Given the description of an element on the screen output the (x, y) to click on. 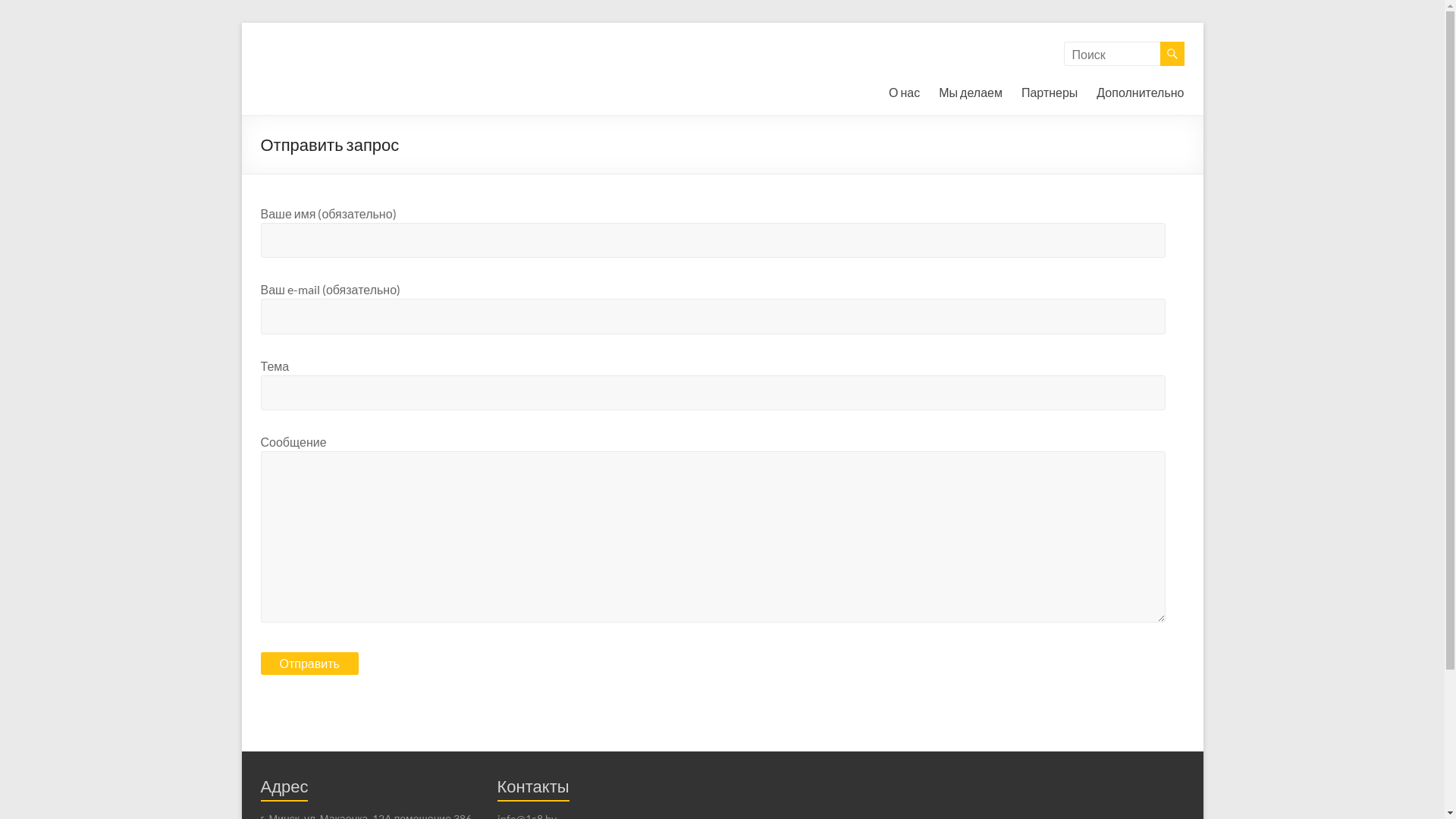
Skip to content Element type: text (241, 21)
